Given the description of an element on the screen output the (x, y) to click on. 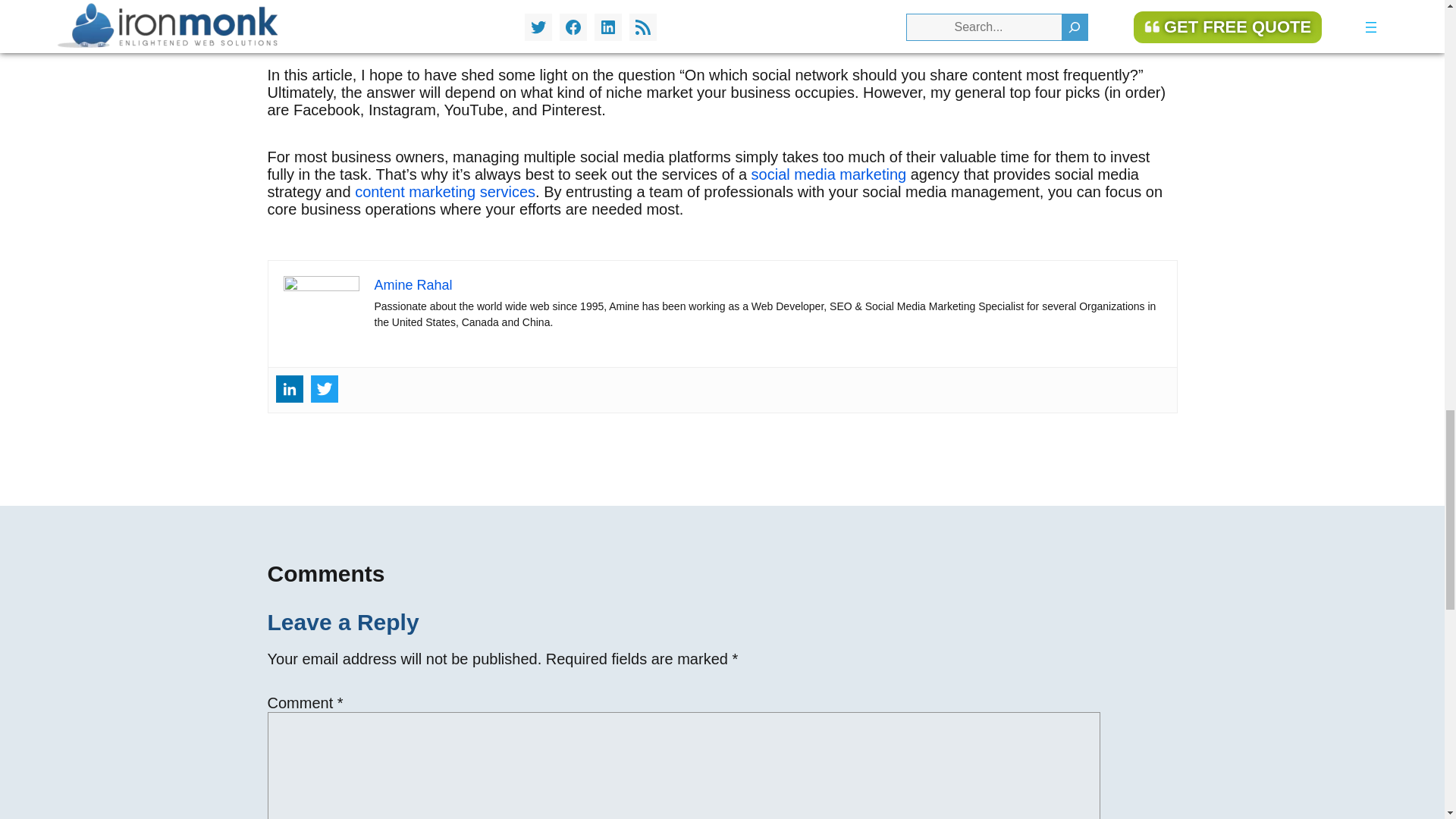
Linkedin (289, 388)
Twitter (324, 388)
